Given the description of an element on the screen output the (x, y) to click on. 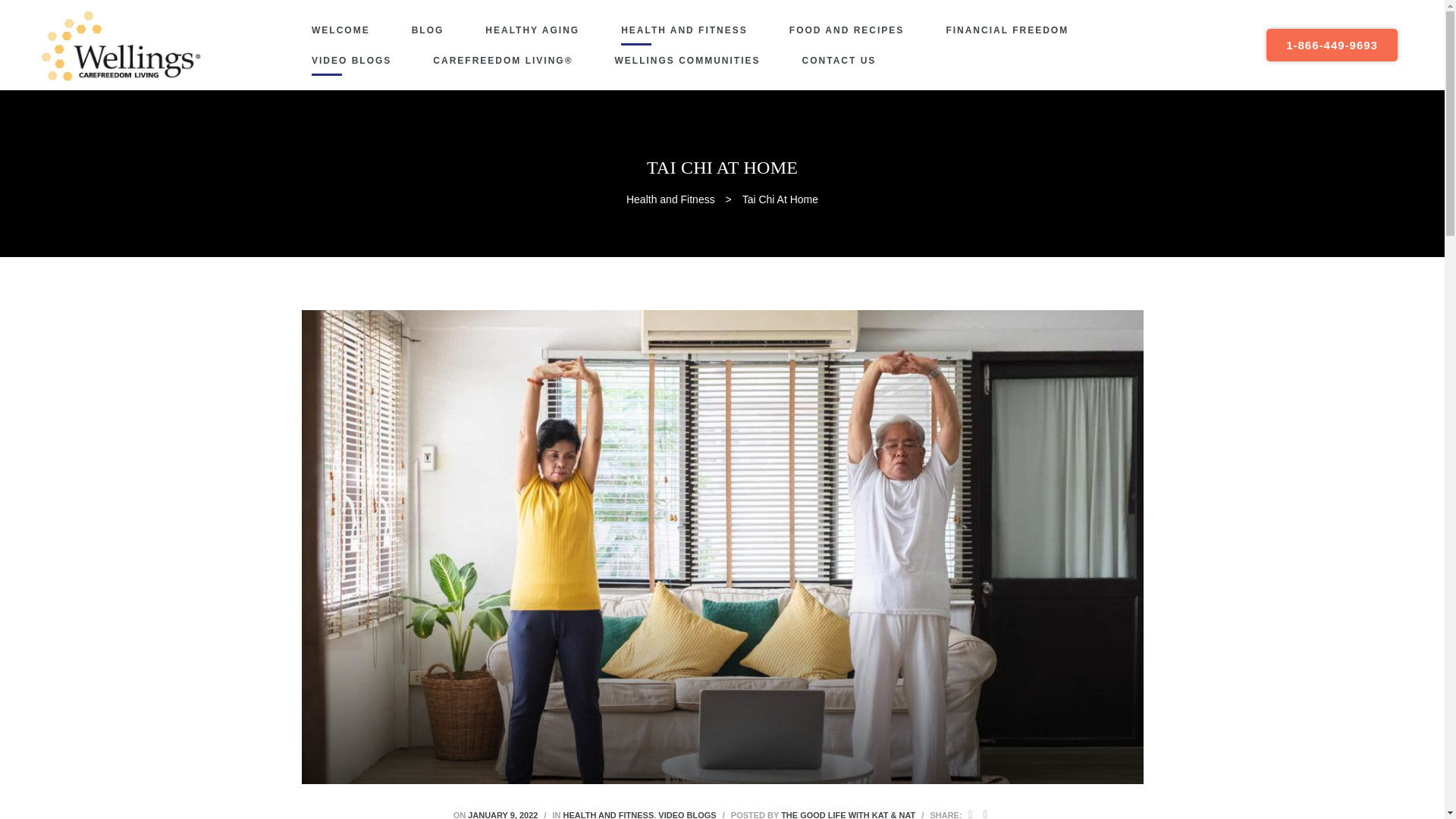
HEALTHY AGING (531, 30)
BLOG (428, 30)
JANUARY 9, 2022 (502, 814)
Go to the Health and Fitness category archives. (671, 199)
VIDEO BLOGS (687, 814)
Health and Fitness (671, 199)
1-866-449-9693 (1331, 44)
FOOD AND RECIPES (846, 30)
FINANCIAL FREEDOM (1006, 30)
VIDEO BLOGS (351, 60)
HEALTH AND FITNESS (684, 30)
WELLINGS COMMUNITIES (687, 60)
CONTACT US (839, 60)
HEALTH AND FITNESS (608, 814)
WELCOME (340, 30)
